Given the description of an element on the screen output the (x, y) to click on. 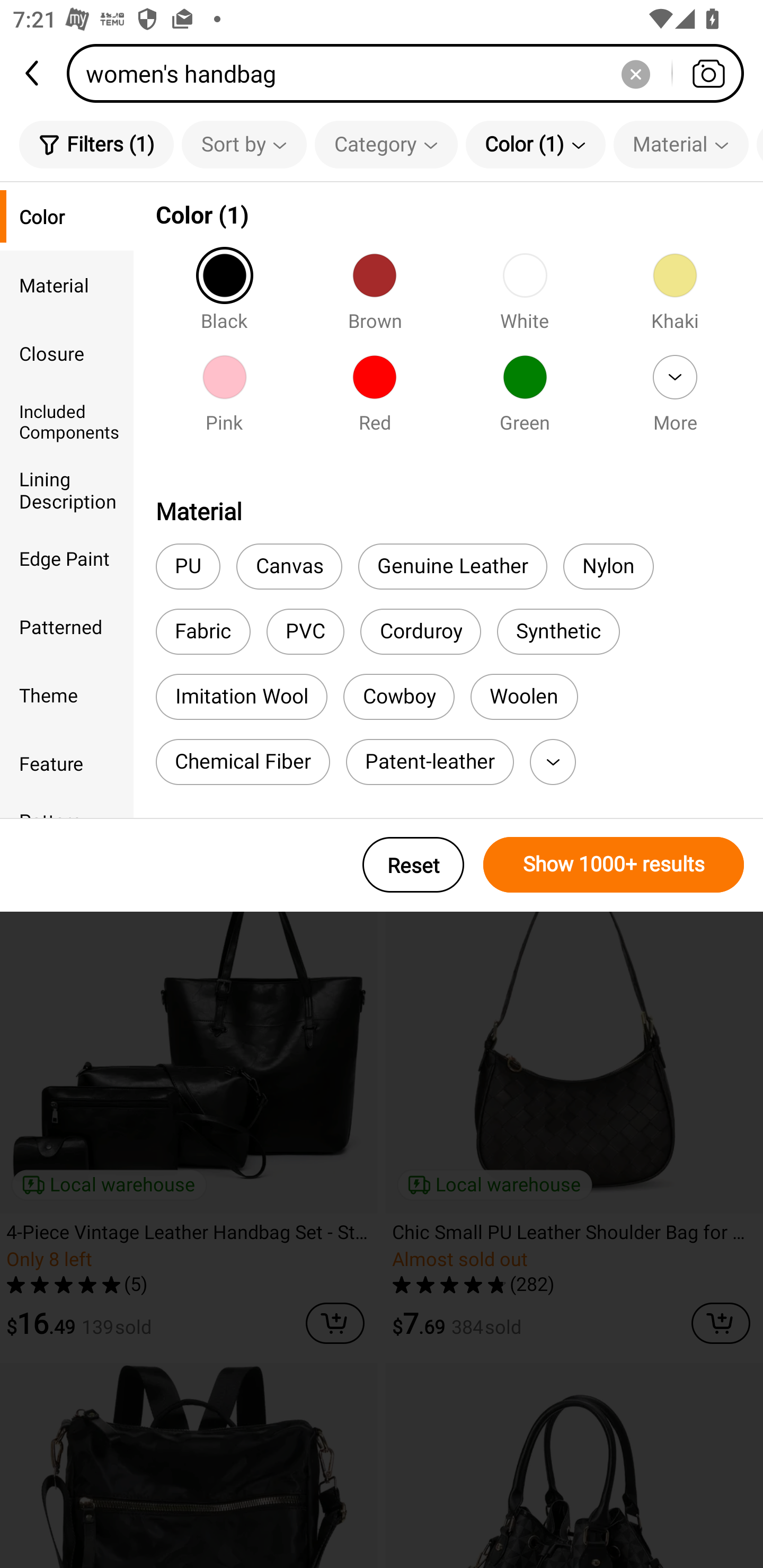
back (33, 72)
women's handbag (411, 73)
Delete search history (635, 73)
Search by photo (708, 73)
Filters (1) (96, 143)
Sort by (243, 143)
Category (385, 143)
Color (1) (535, 143)
Material (680, 143)
Color (66, 215)
Brown (374, 297)
Deals (73, 273)
Closure (66, 352)
Pink (224, 399)
More (674, 399)
Included Components (66, 421)
Lining Description (66, 489)
Edge Paint (66, 557)
PU (187, 566)
Canvas (289, 566)
Genuine Leather (452, 566)
Nylon (608, 566)
Patterned (66, 626)
Fabric (202, 631)
PVC (305, 631)
Corduroy (420, 631)
Synthetic (557, 631)
Theme (66, 694)
Imitation Wool (241, 696)
Cowboy (398, 696)
Woolen (524, 696)
Feature (66, 762)
Chemical Fiber (242, 761)
Patent-leather (429, 761)
More (552, 761)
Reset (412, 864)
Show 1000+ results (612, 864)
